Given the description of an element on the screen output the (x, y) to click on. 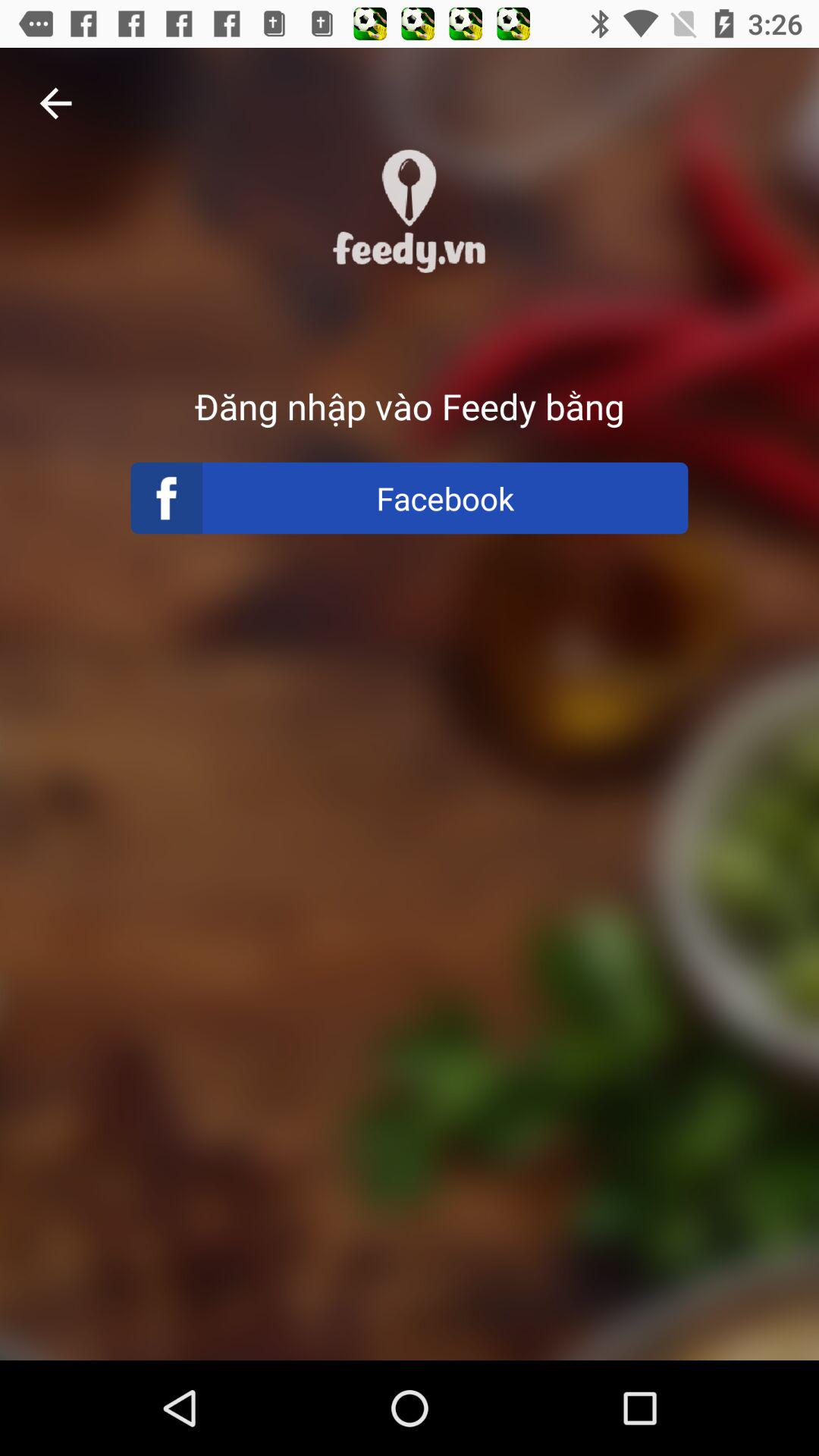
tap the item at the top left corner (55, 103)
